Given the description of an element on the screen output the (x, y) to click on. 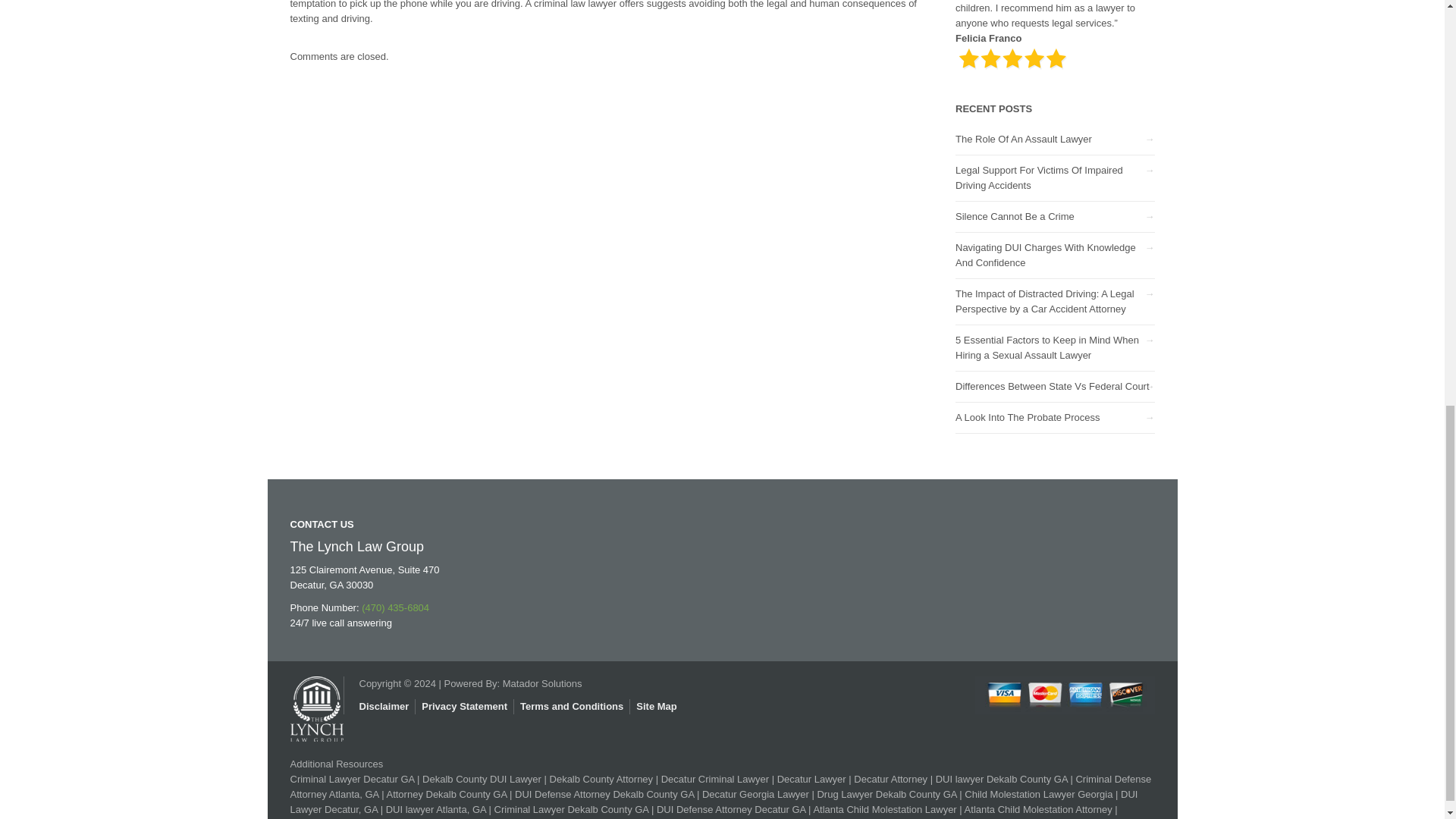
A Look Into The Probate Process (1027, 417)
Legal Support For Victims Of Impaired Driving Accidents (1038, 177)
Navigating DUI Charges With Knowledge And Confidence (1045, 254)
The Lynch Law Group (315, 701)
Differences Between State Vs Federal Court (1052, 386)
Silence Cannot Be a Crime (1014, 215)
The Role Of An Assault Lawyer (1023, 138)
